Given the description of an element on the screen output the (x, y) to click on. 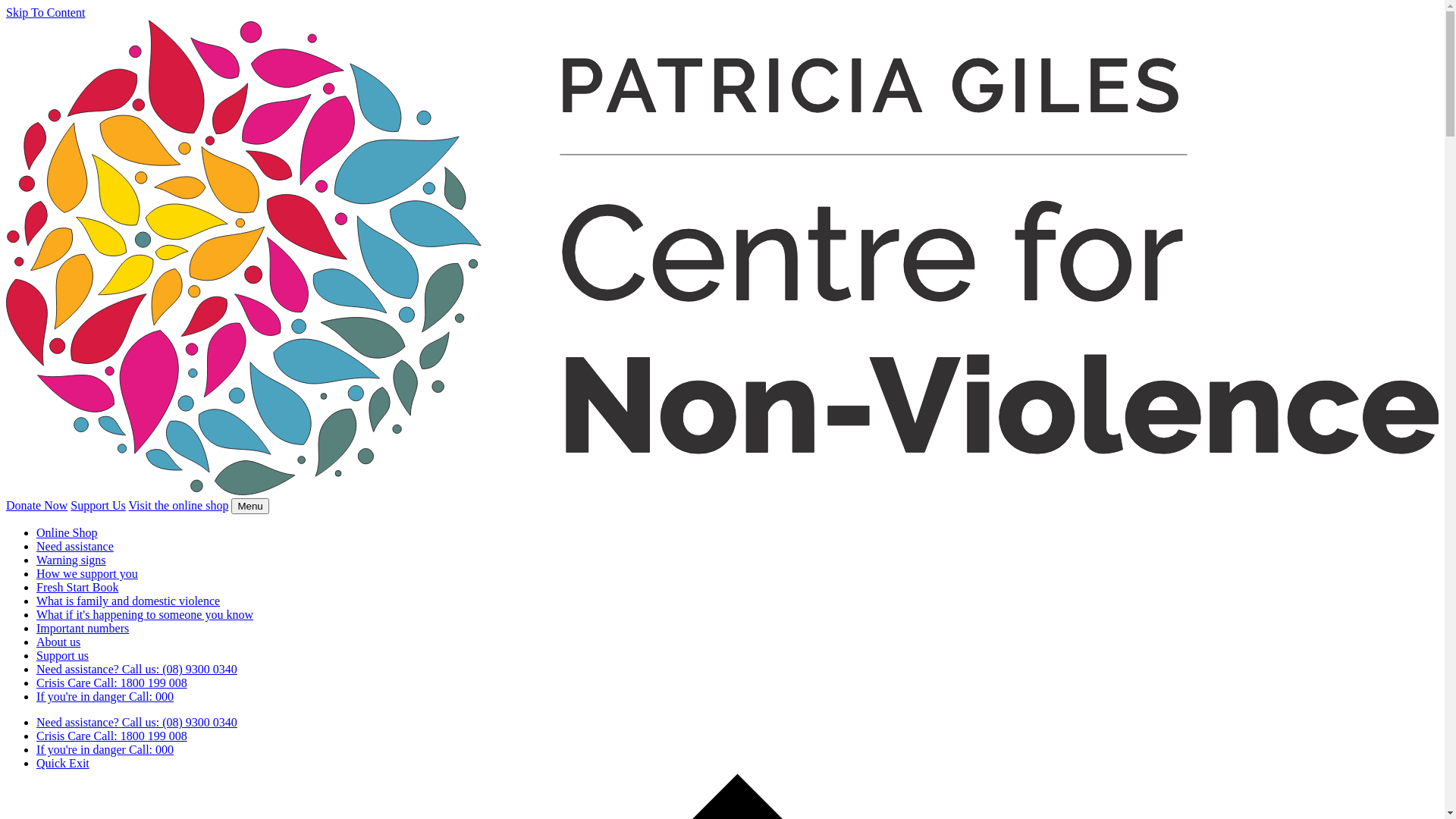
How we support you Element type: text (87, 573)
Crisis Care Call: 1800 199 008 Element type: text (111, 735)
Need assistance Element type: text (74, 545)
Fresh Start Book Element type: text (77, 586)
Donate Now Element type: text (36, 504)
Important numbers Element type: text (82, 627)
Patricia Giles Centre for Non-Violence Element type: hover (722, 490)
Need assistance? Call us: (08) 9300 0340 Element type: text (136, 668)
What if it's happening to someone you know Element type: text (144, 614)
Warning signs Element type: text (71, 559)
What is family and domestic violence Element type: text (127, 600)
If you're in danger Call: 000 Element type: text (104, 749)
Crisis Care Call: 1800 199 008 Element type: text (111, 682)
Need assistance? Call us: (08) 9300 0340 Element type: text (136, 721)
Support Us Element type: text (97, 504)
Online Shop Element type: text (66, 532)
Menu Element type: text (249, 506)
Skip To Content Element type: text (45, 12)
Support us Element type: text (62, 655)
About us Element type: text (58, 641)
If you're in danger Call: 000 Element type: text (104, 696)
Visit the online shop Element type: text (178, 504)
